Given the description of an element on the screen output the (x, y) to click on. 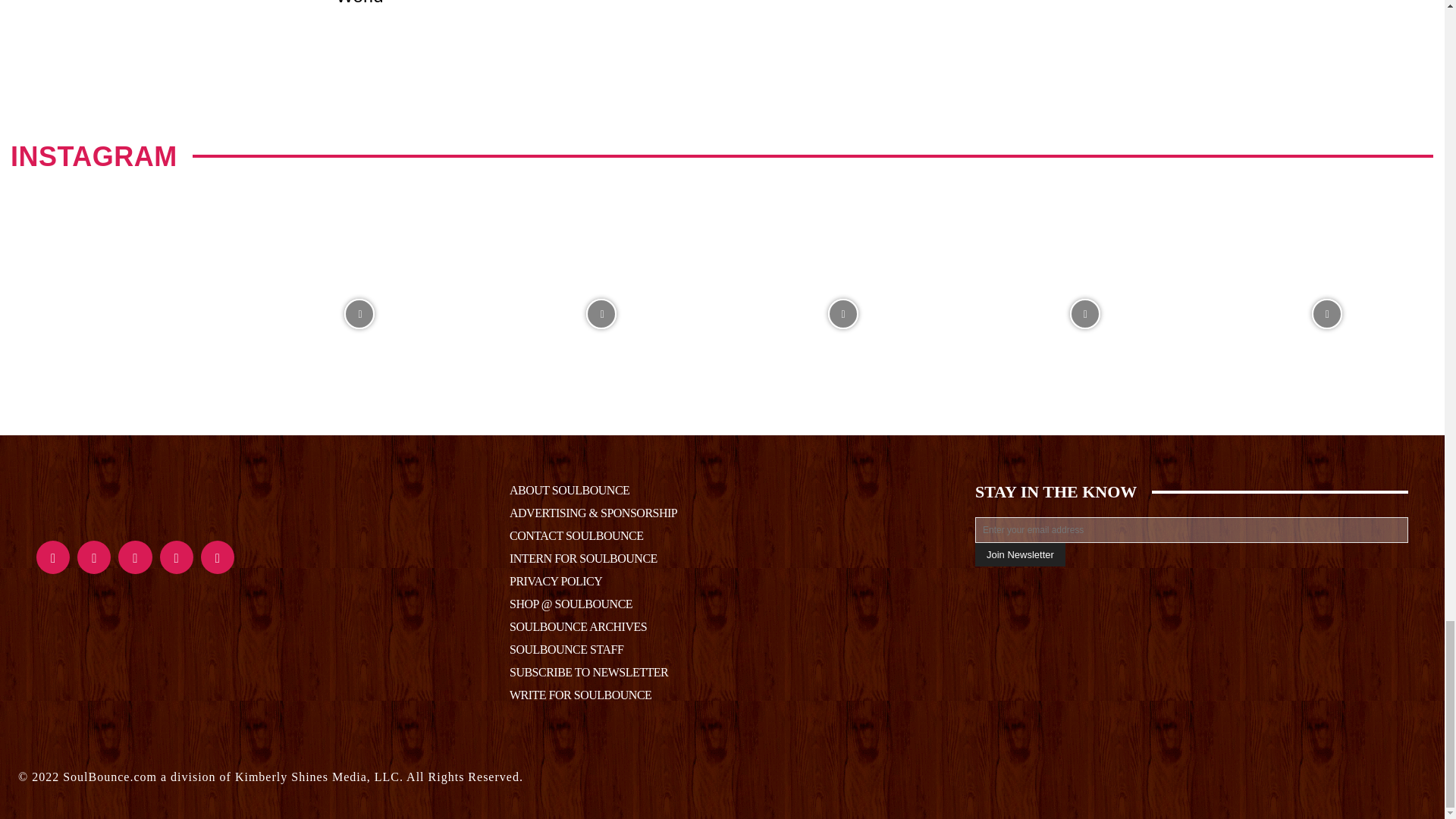
Join Newsletter (1020, 554)
